Given the description of an element on the screen output the (x, y) to click on. 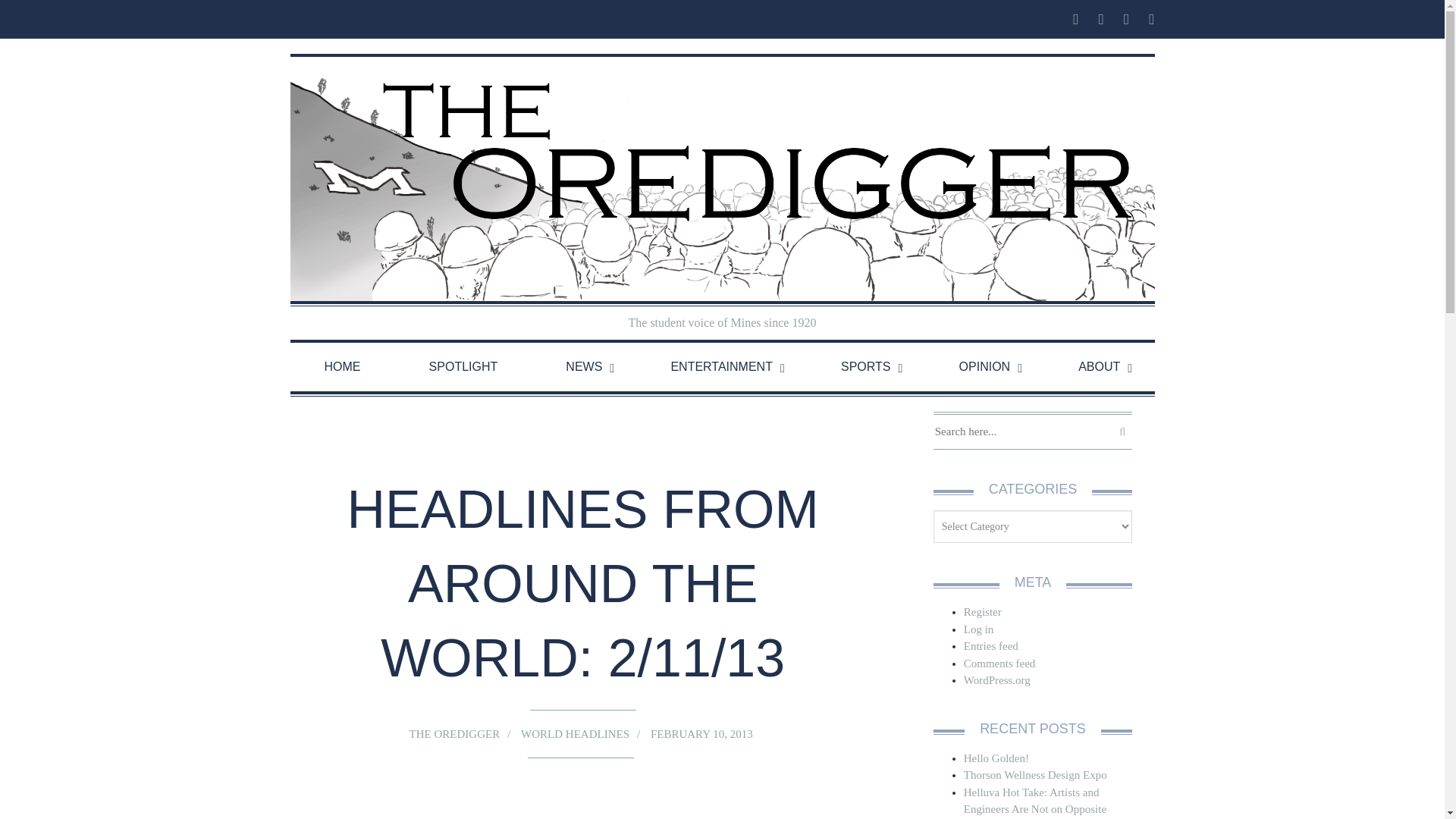
SPOTLIGHT (463, 367)
NEWS (583, 367)
SPORTS (865, 367)
HOME (341, 367)
ABOUT (1098, 367)
Posts by The Oredigger (454, 734)
OPINION (984, 367)
ENTERTAINMENT (721, 367)
Go back to home (721, 179)
